Given the description of an element on the screen output the (x, y) to click on. 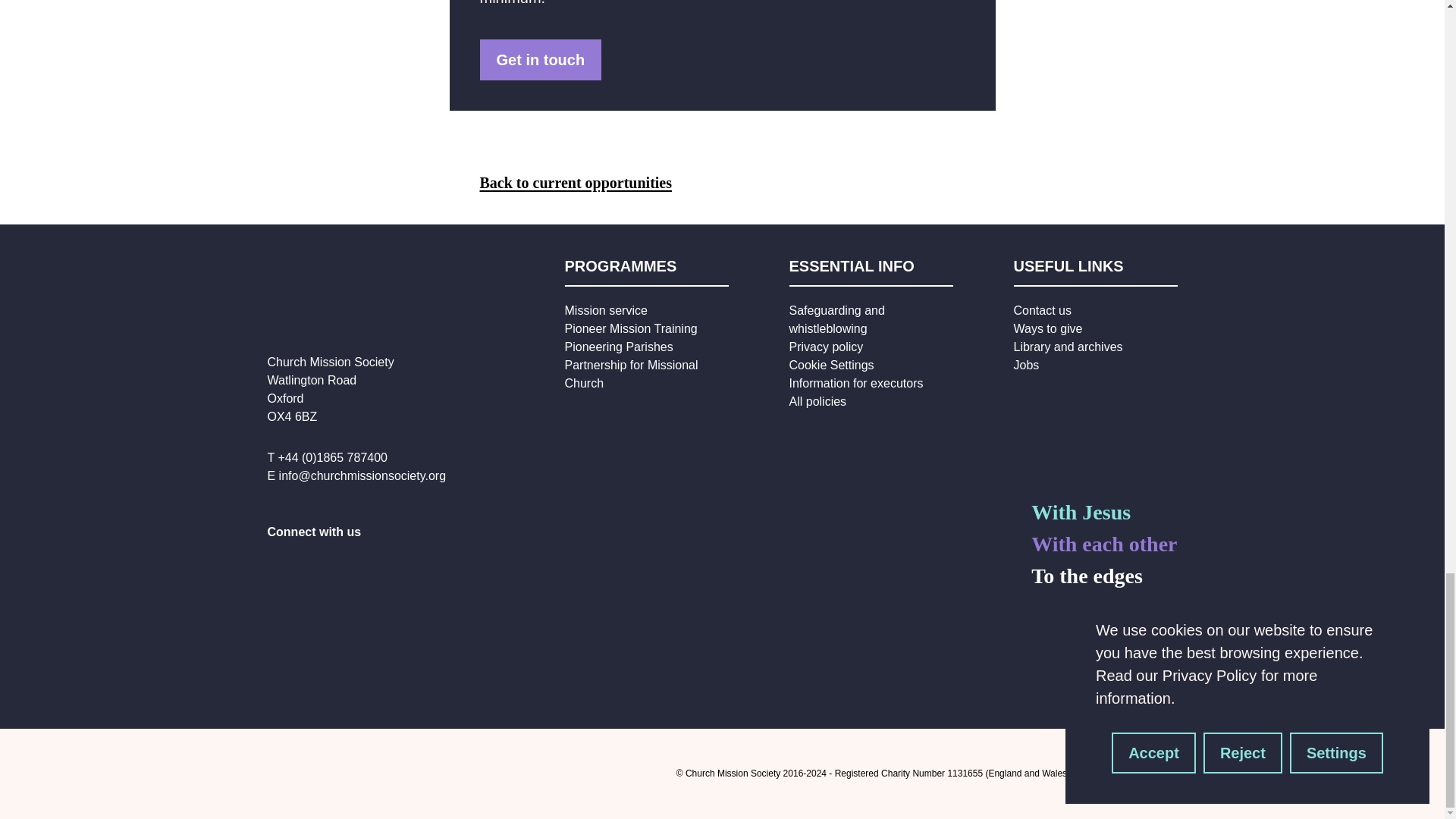
Get in touch (540, 59)
Back to current opportunities (575, 182)
